Given the description of an element on the screen output the (x, y) to click on. 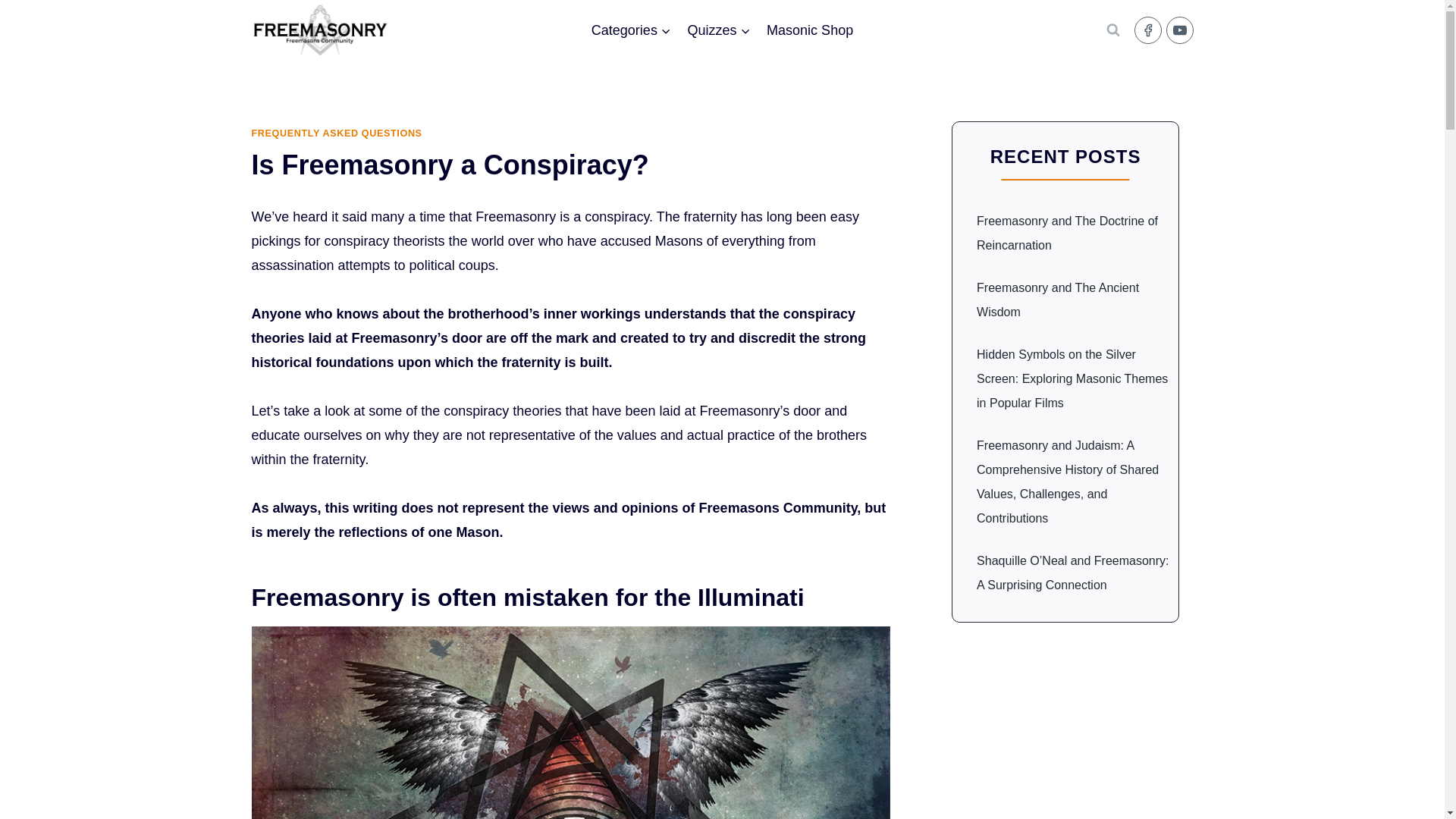
Masonic Shop (809, 29)
Categories (631, 29)
Freemasonry and The Doctrine of Reincarnation (1066, 232)
FREQUENTLY ASKED QUESTIONS (336, 132)
Quizzes (718, 29)
